Given the description of an element on the screen output the (x, y) to click on. 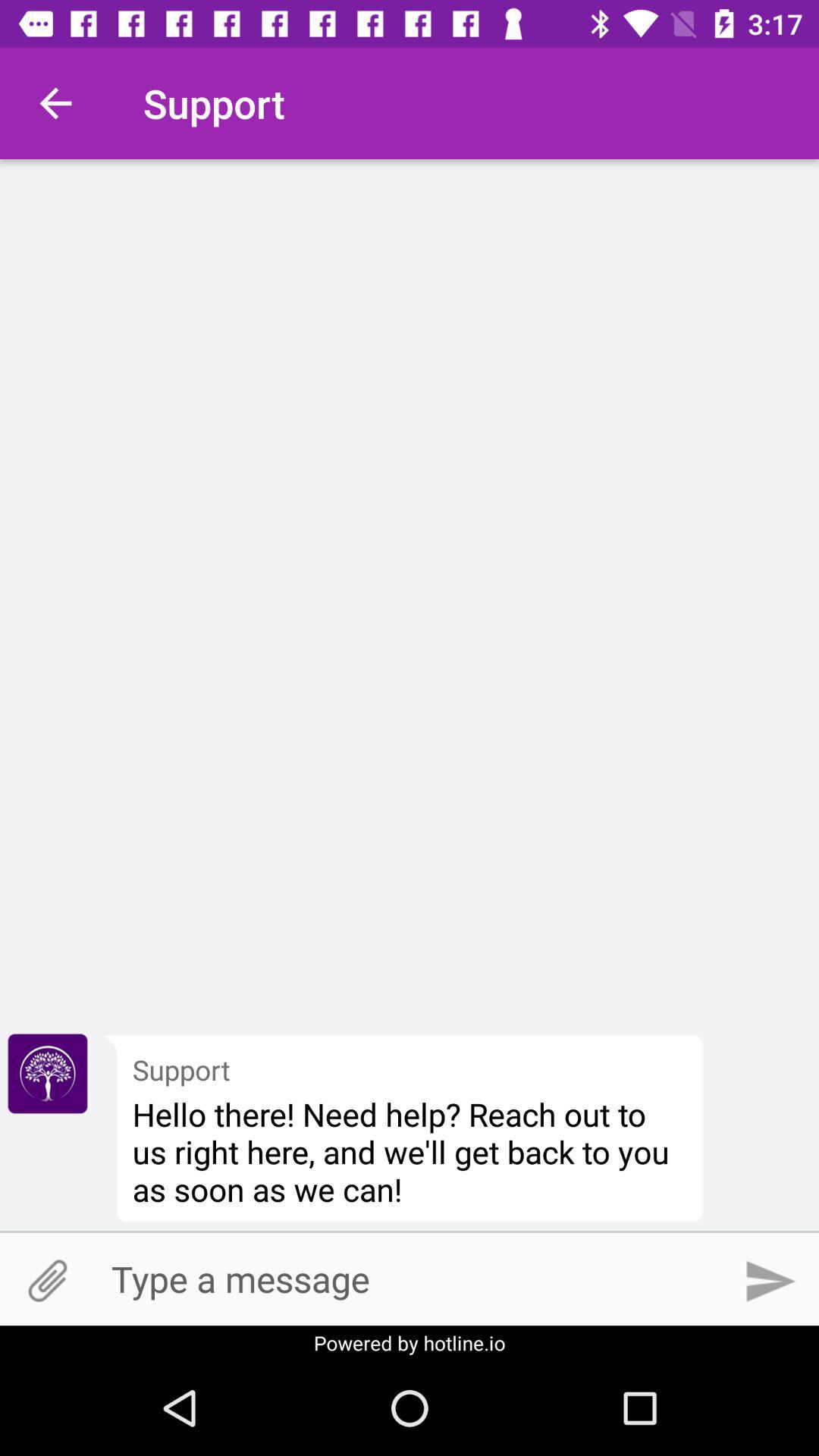
open the item at the bottom right corner (771, 1280)
